Given the description of an element on the screen output the (x, y) to click on. 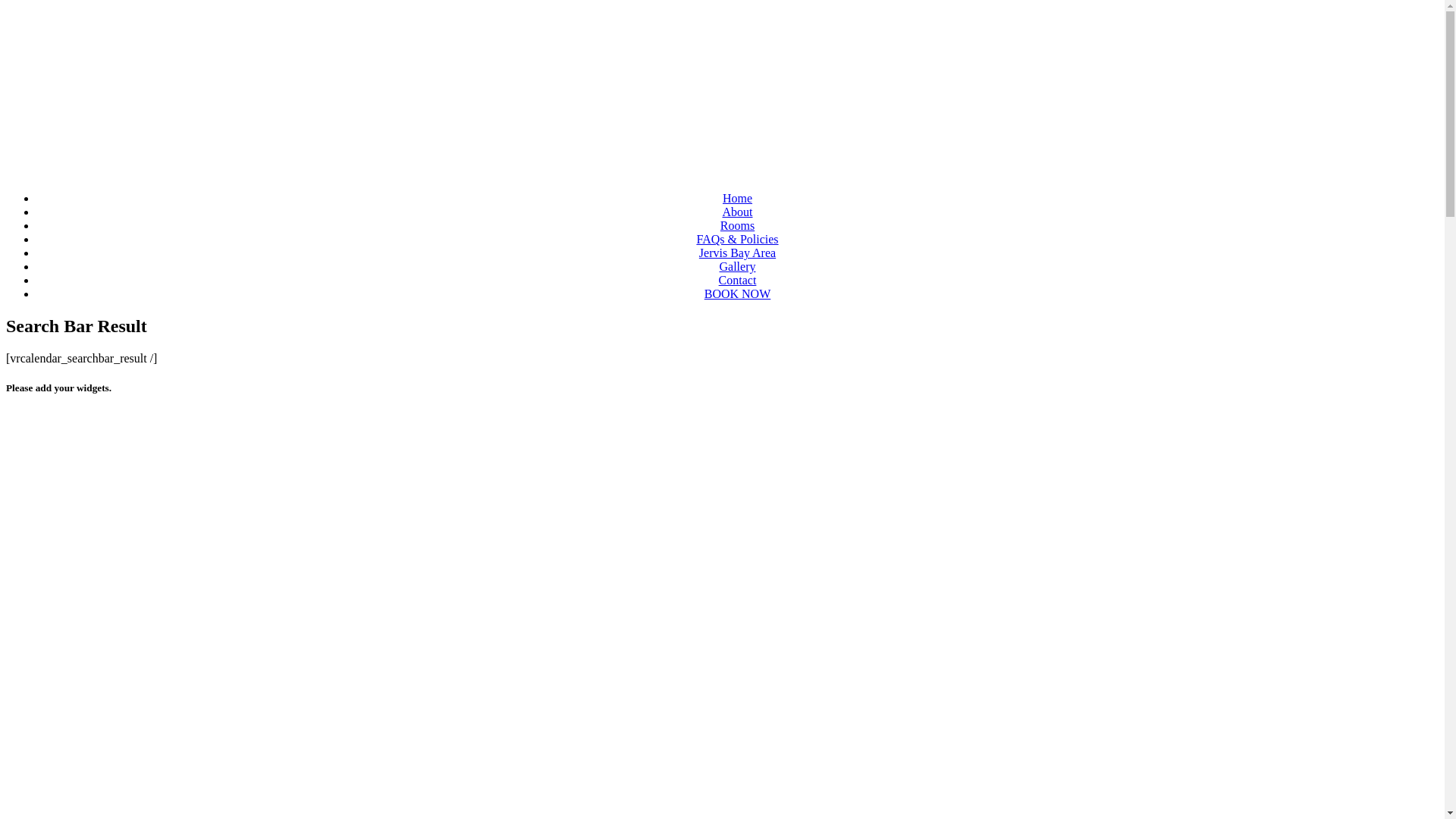
Home Element type: text (737, 197)
BOOK NOW Element type: text (737, 293)
About Element type: text (736, 211)
Rooms Element type: text (737, 225)
Gallery Element type: text (736, 266)
FAQs & Policies Element type: text (737, 238)
Jervis Bay Area Element type: text (737, 252)
Contact Element type: text (737, 279)
